Given the description of an element on the screen output the (x, y) to click on. 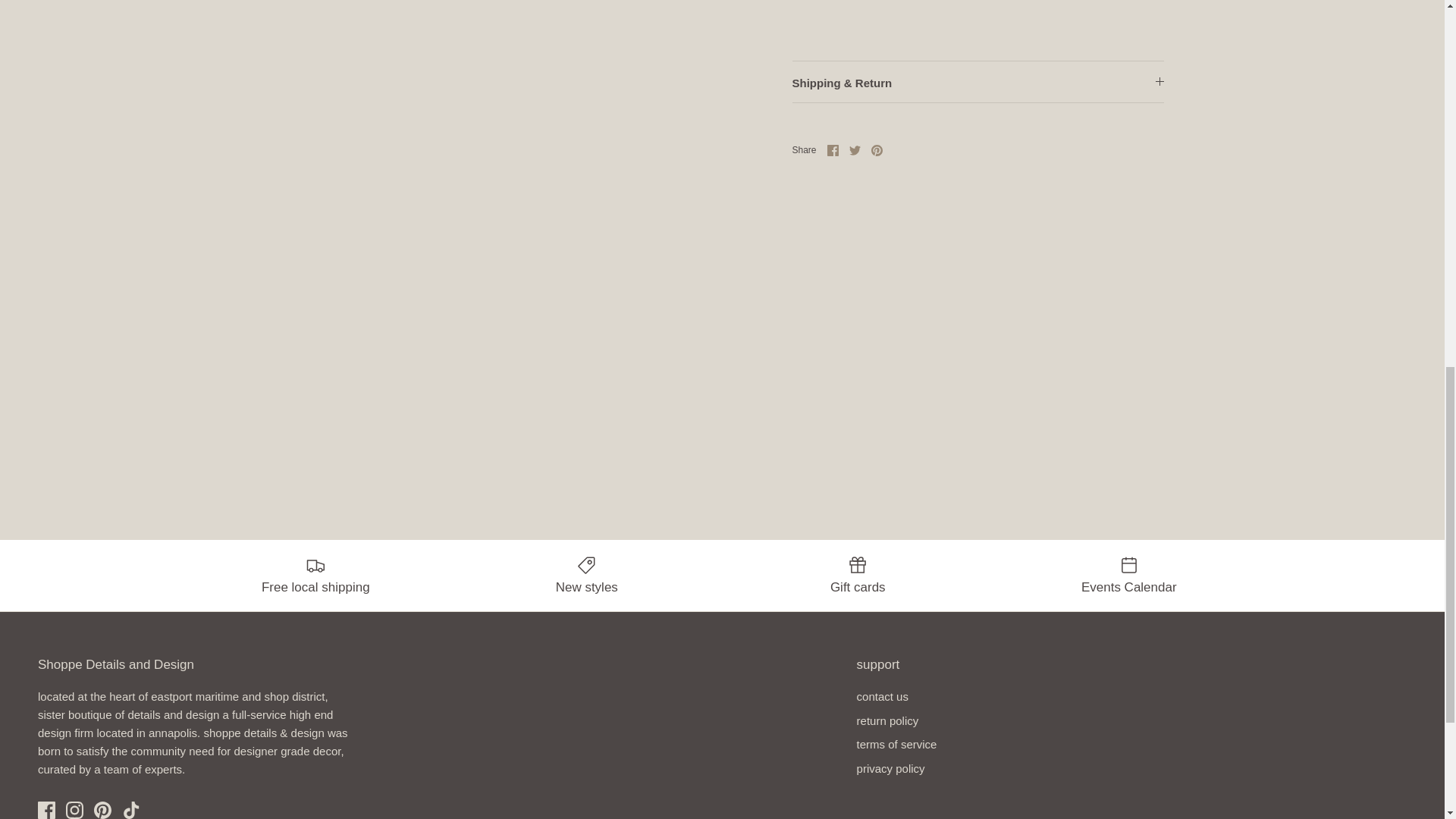
Twitter (854, 150)
Instagram (73, 810)
Facebook (832, 150)
Pinterest (103, 810)
Pinterest (876, 150)
Facebook (46, 810)
